Given the description of an element on the screen output the (x, y) to click on. 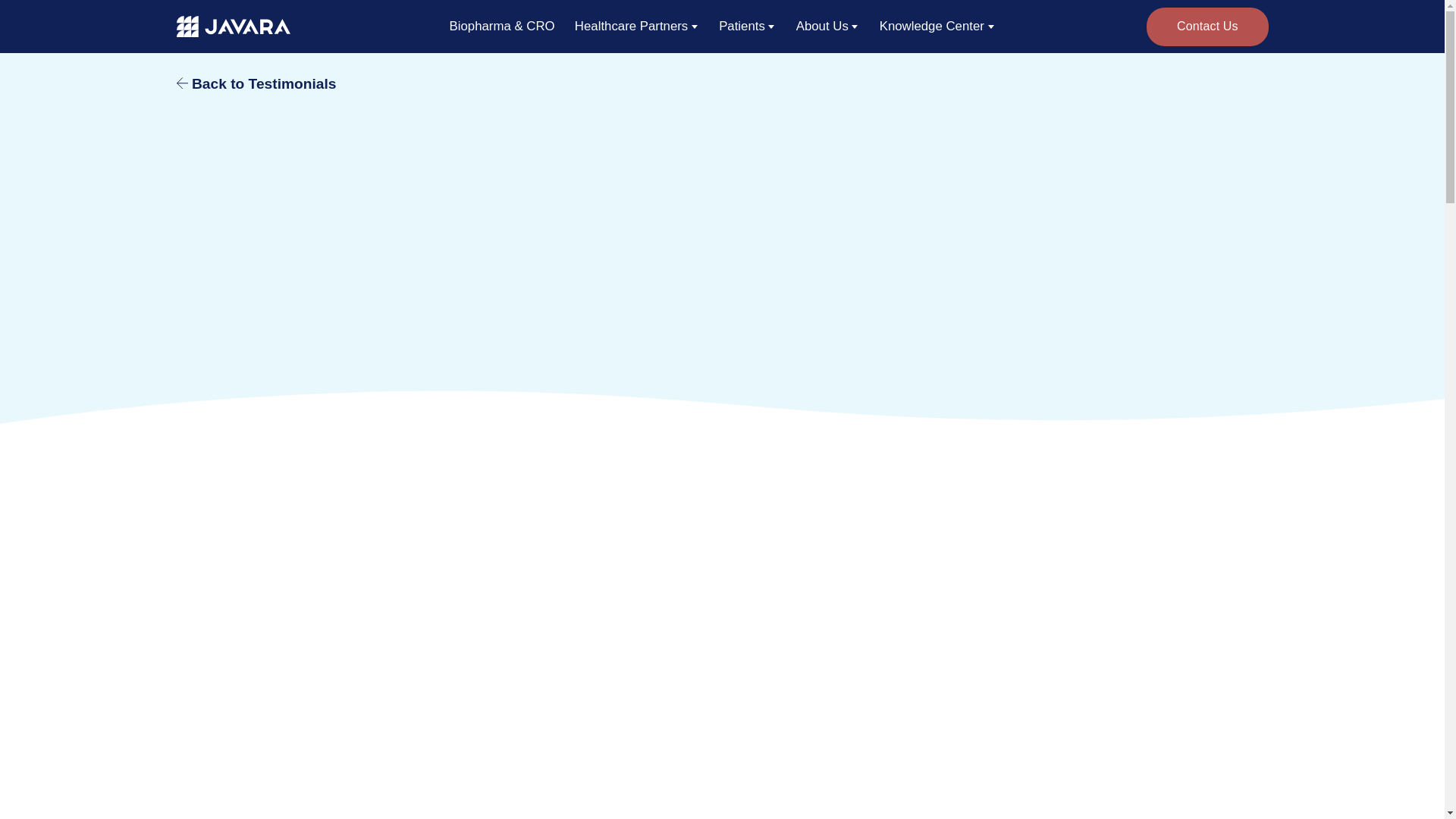
About Us (827, 26)
Contact Us (1207, 26)
Patients (747, 26)
Knowledge Center (937, 26)
Back to Testimonials (256, 83)
Healthcare Partners (636, 26)
Skip to main content (88, 22)
